Given the description of an element on the screen output the (x, y) to click on. 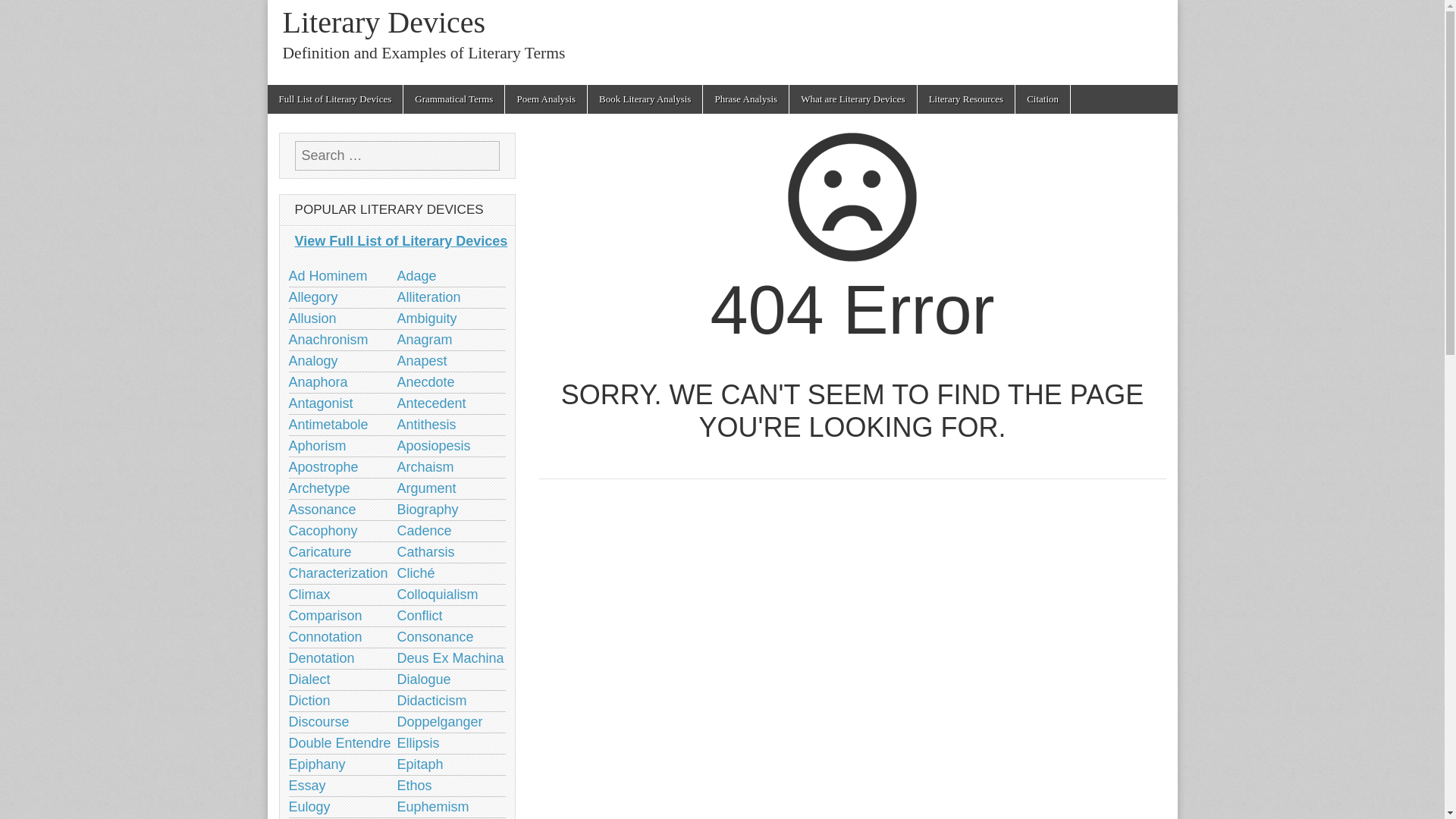
Antagonist (320, 403)
Antithesis (427, 424)
Analogy (312, 360)
Archaism (425, 467)
Adage (416, 275)
Anaphora (317, 381)
Alliteration (429, 296)
Aphorism (317, 445)
